Given the description of an element on the screen output the (x, y) to click on. 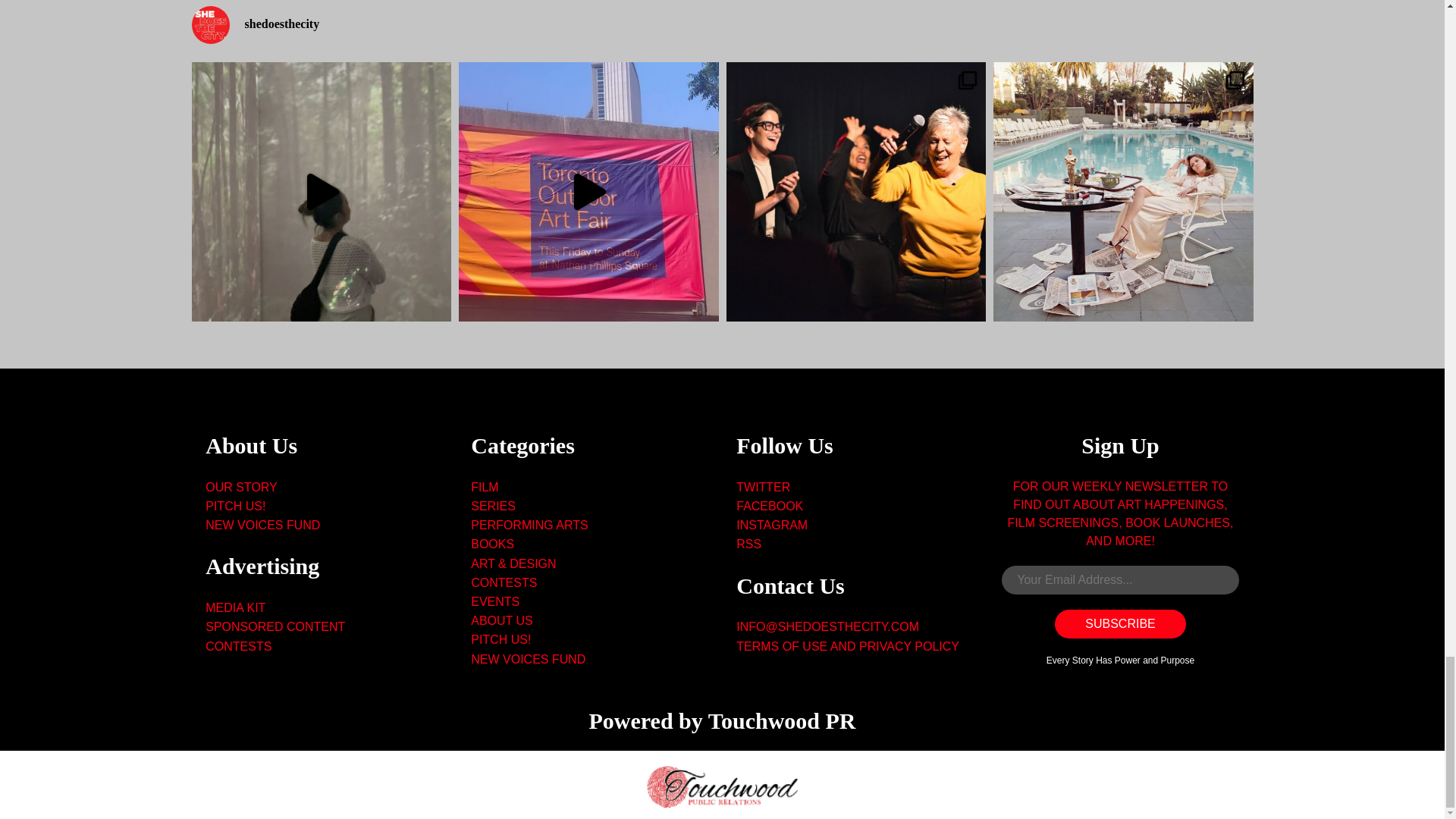
Subscribe (1119, 623)
